Given the description of an element on the screen output the (x, y) to click on. 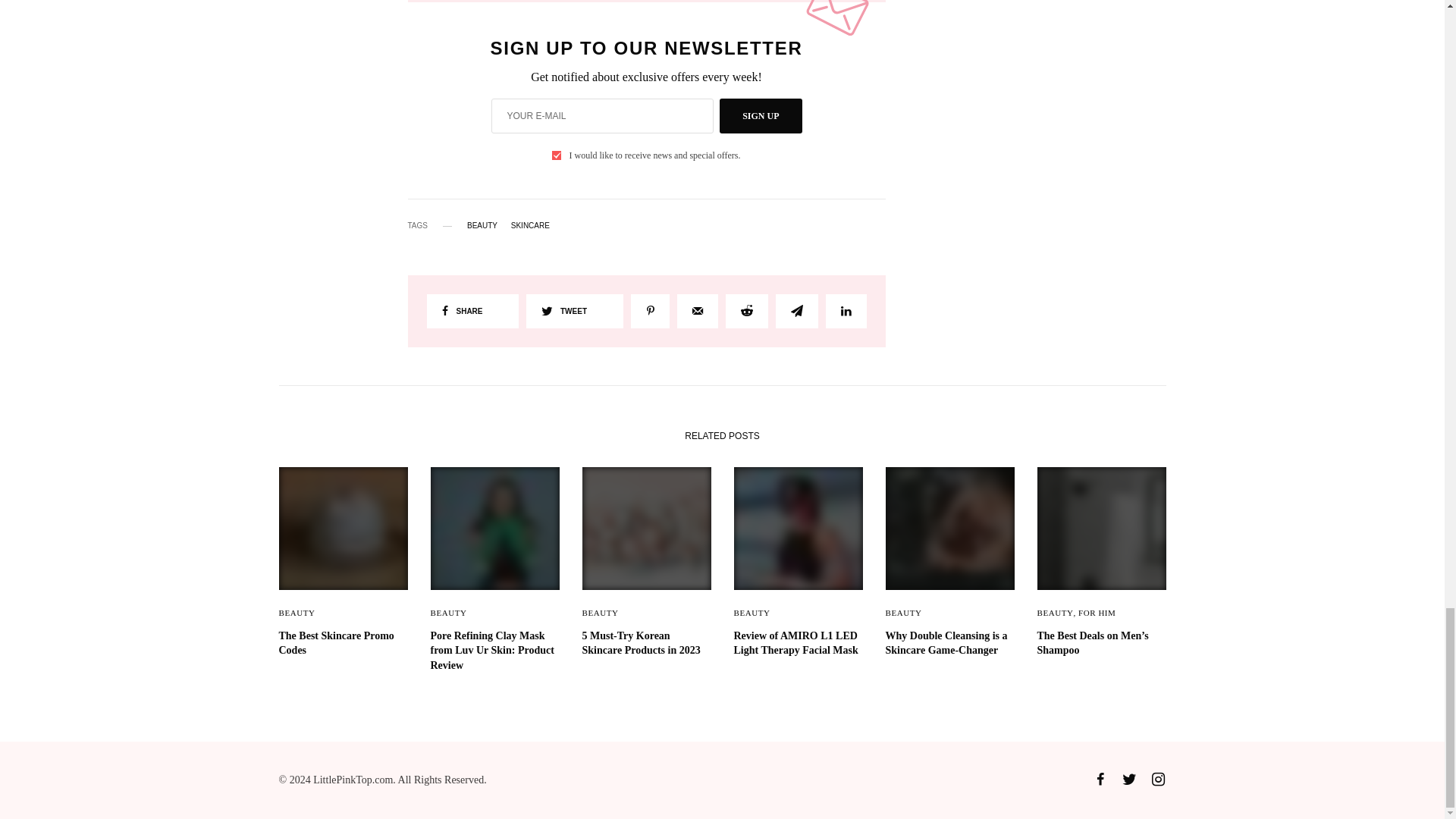
Why Double Cleansing is a Skincare Game-Changer (949, 643)
5 Must-Try Korean Skincare Products in 2023 (646, 643)
SKINCARE (530, 225)
Pore Refining Clay Mask from Luv Ur Skin: Product Review (494, 650)
SHARE (472, 311)
SIGN UP (760, 115)
BEAUTY (482, 225)
TWEET (574, 311)
The Best Skincare Promo Codes (343, 643)
Review of AMIRO L1 LED Light Therapy Facial Mask (798, 643)
